Given the description of an element on the screen output the (x, y) to click on. 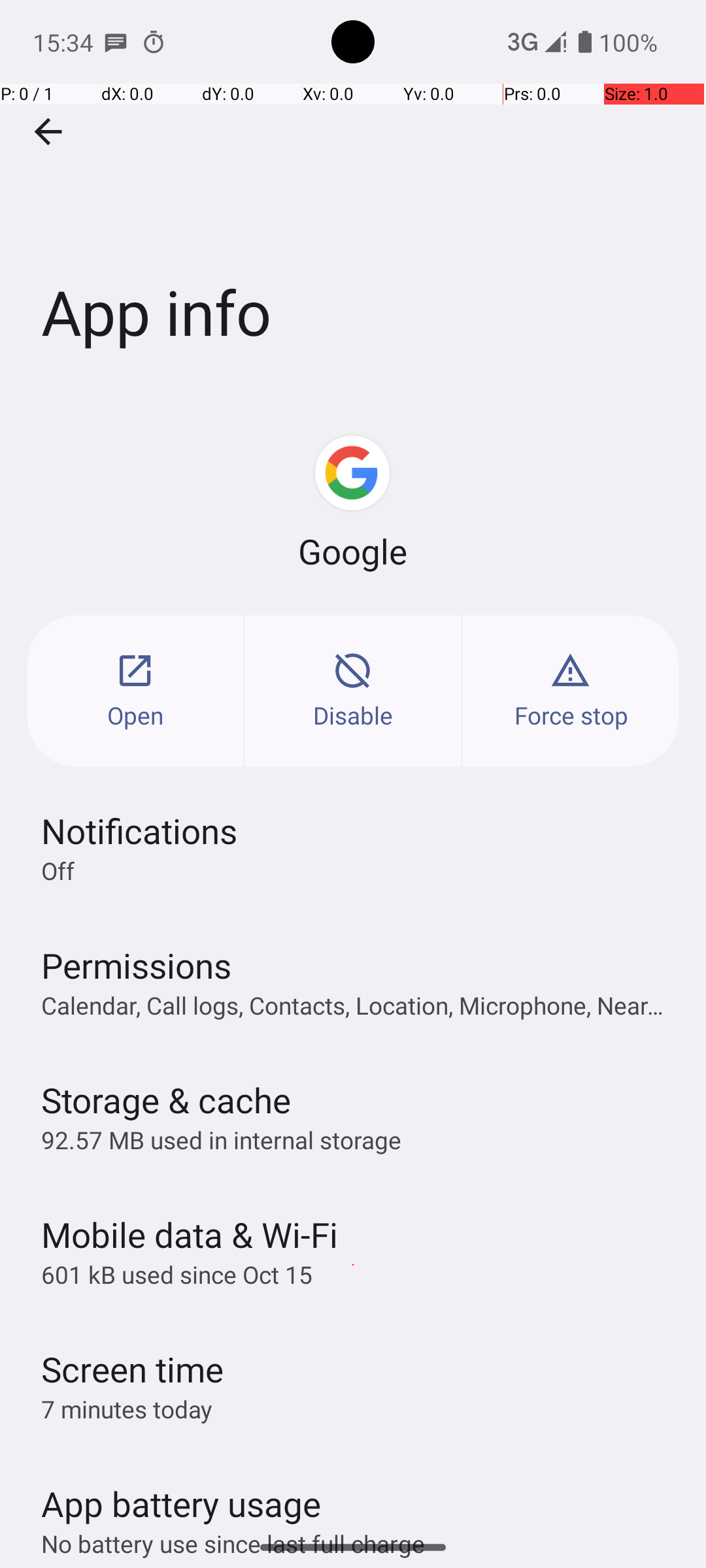
Calendar, Call logs, Contacts, Location, Microphone, Nearby devices, Phone, and SMS Element type: android.widget.TextView (359, 1004)
92.57 MB used in internal storage Element type: android.widget.TextView (221, 1139)
601 kB used since Oct 15 Element type: android.widget.TextView (176, 1273)
7 minutes today Element type: android.widget.TextView (127, 1408)
